Given the description of an element on the screen output the (x, y) to click on. 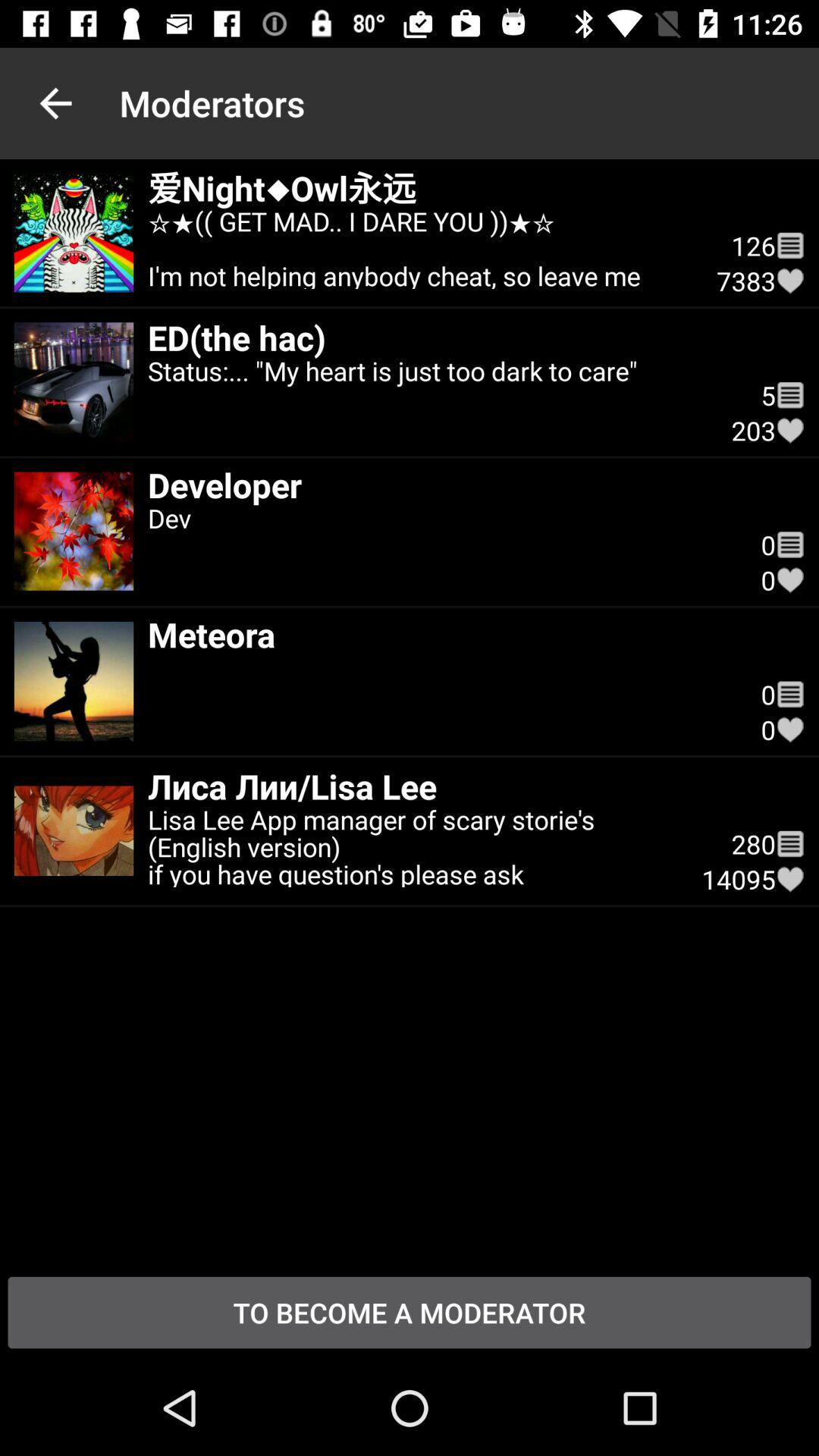
scroll until the 7383 item (745, 280)
